Given the description of an element on the screen output the (x, y) to click on. 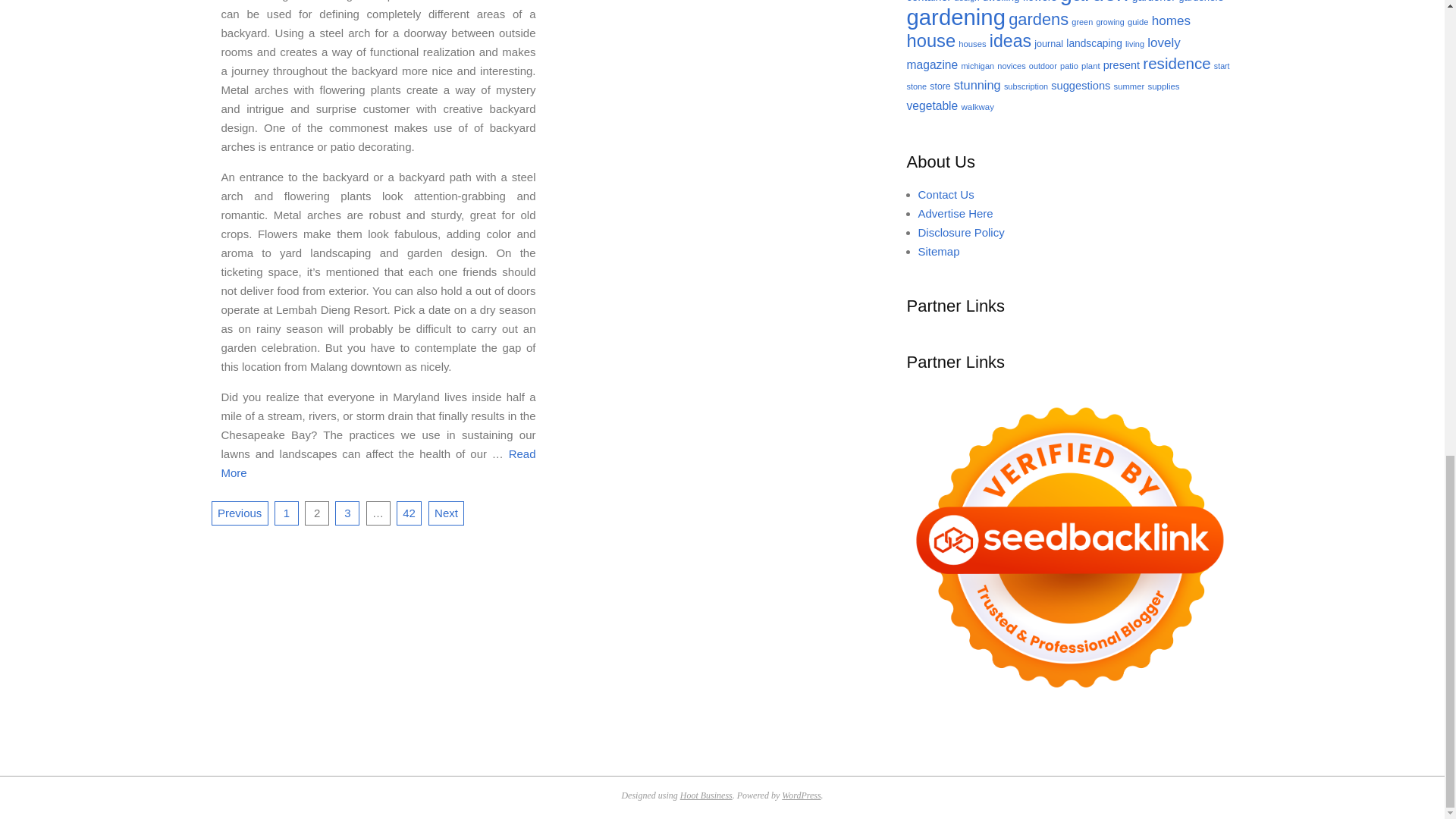
Seedbacklink (1070, 547)
Hoot Business WordPress Theme (705, 795)
